Given the description of an element on the screen output the (x, y) to click on. 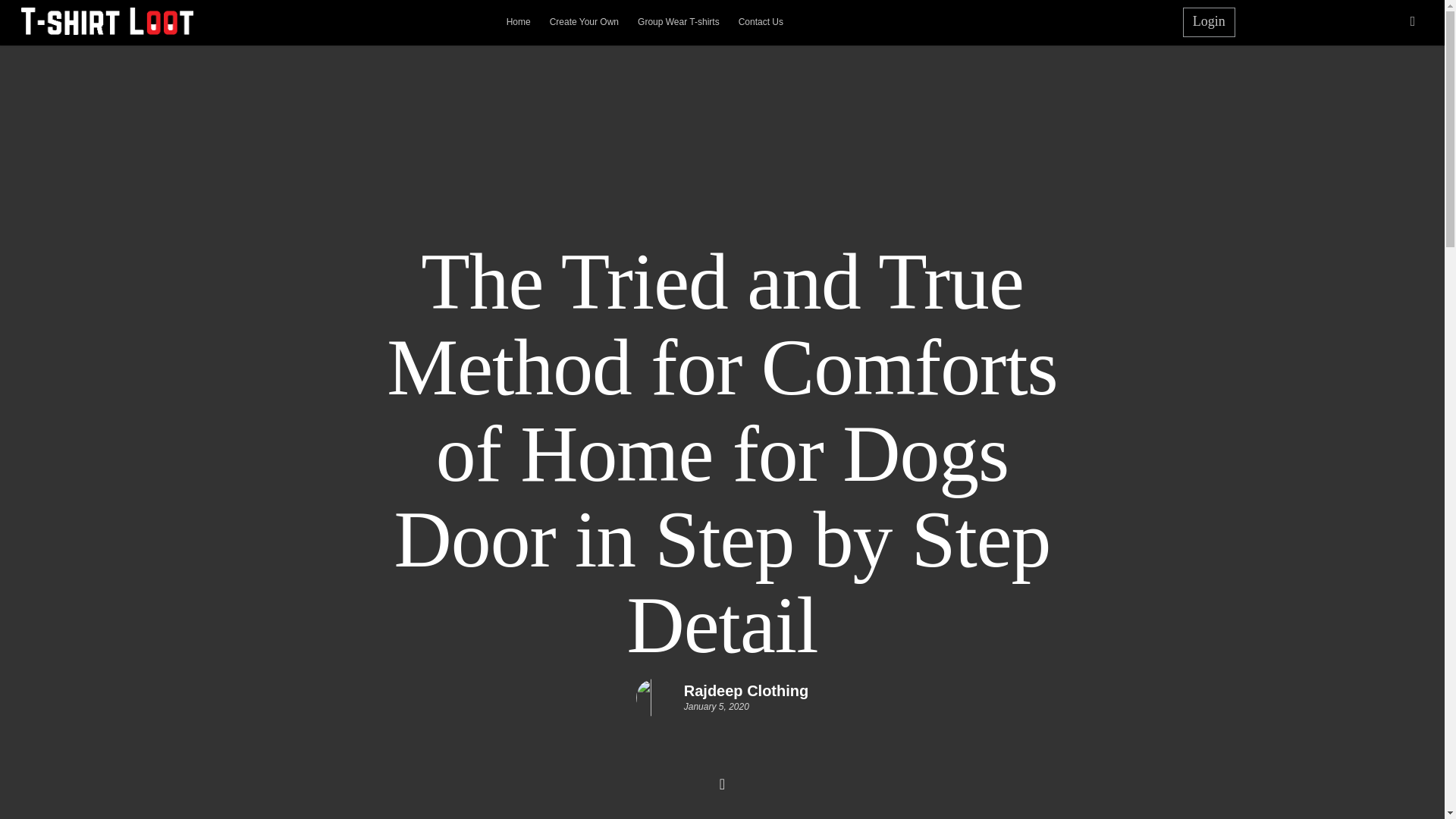
Contact Us (760, 18)
Posts by Rajdeep Clothing (746, 690)
Login (1208, 20)
Rajdeep Clothing (746, 690)
Group Wear T-shirts (678, 18)
Create Your Own (583, 18)
Home (518, 18)
